Given the description of an element on the screen output the (x, y) to click on. 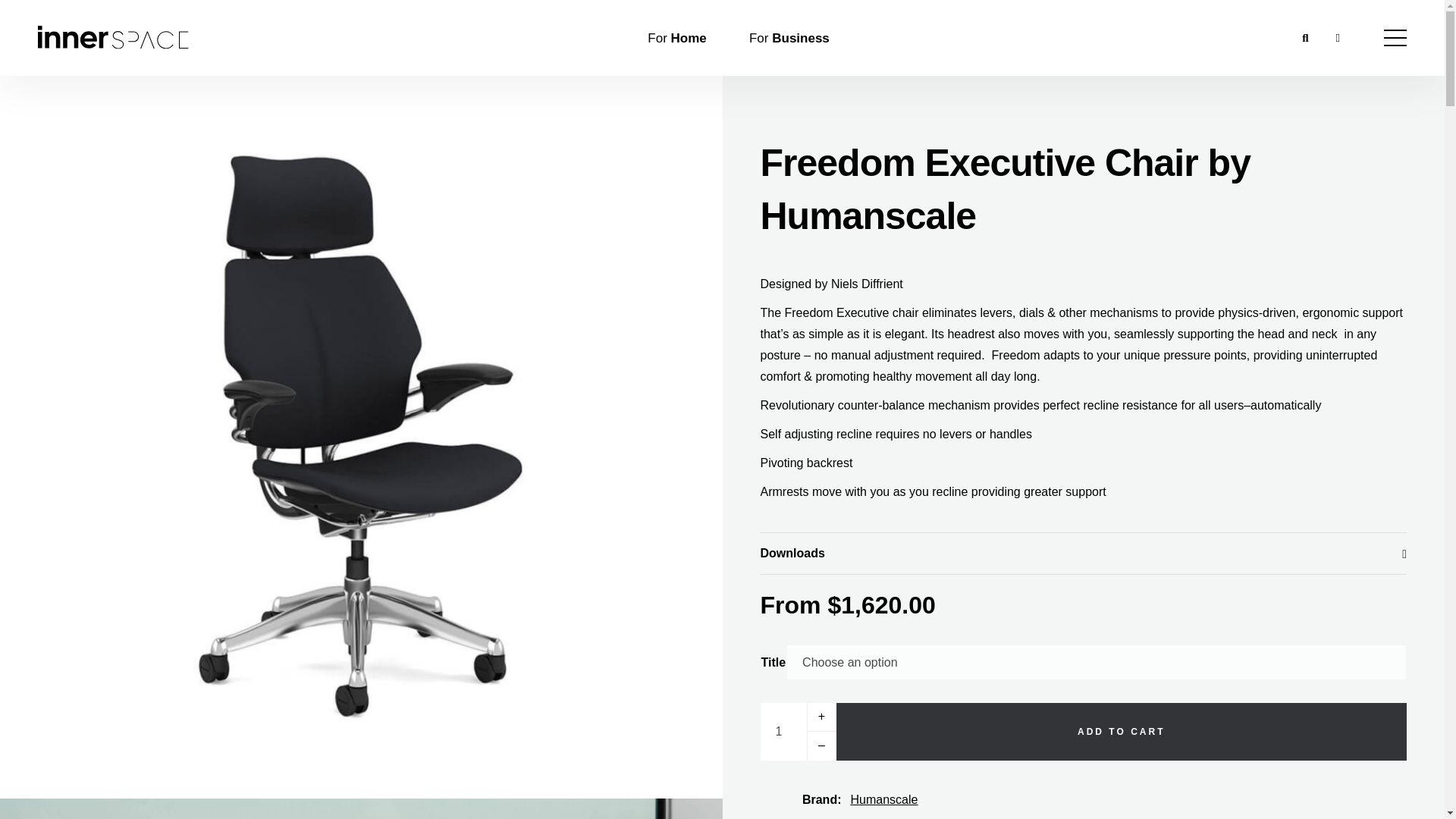
Qty (797, 731)
For Business (788, 37)
Downloads (1083, 553)
1 (797, 731)
For Home (676, 37)
